Given the description of an element on the screen output the (x, y) to click on. 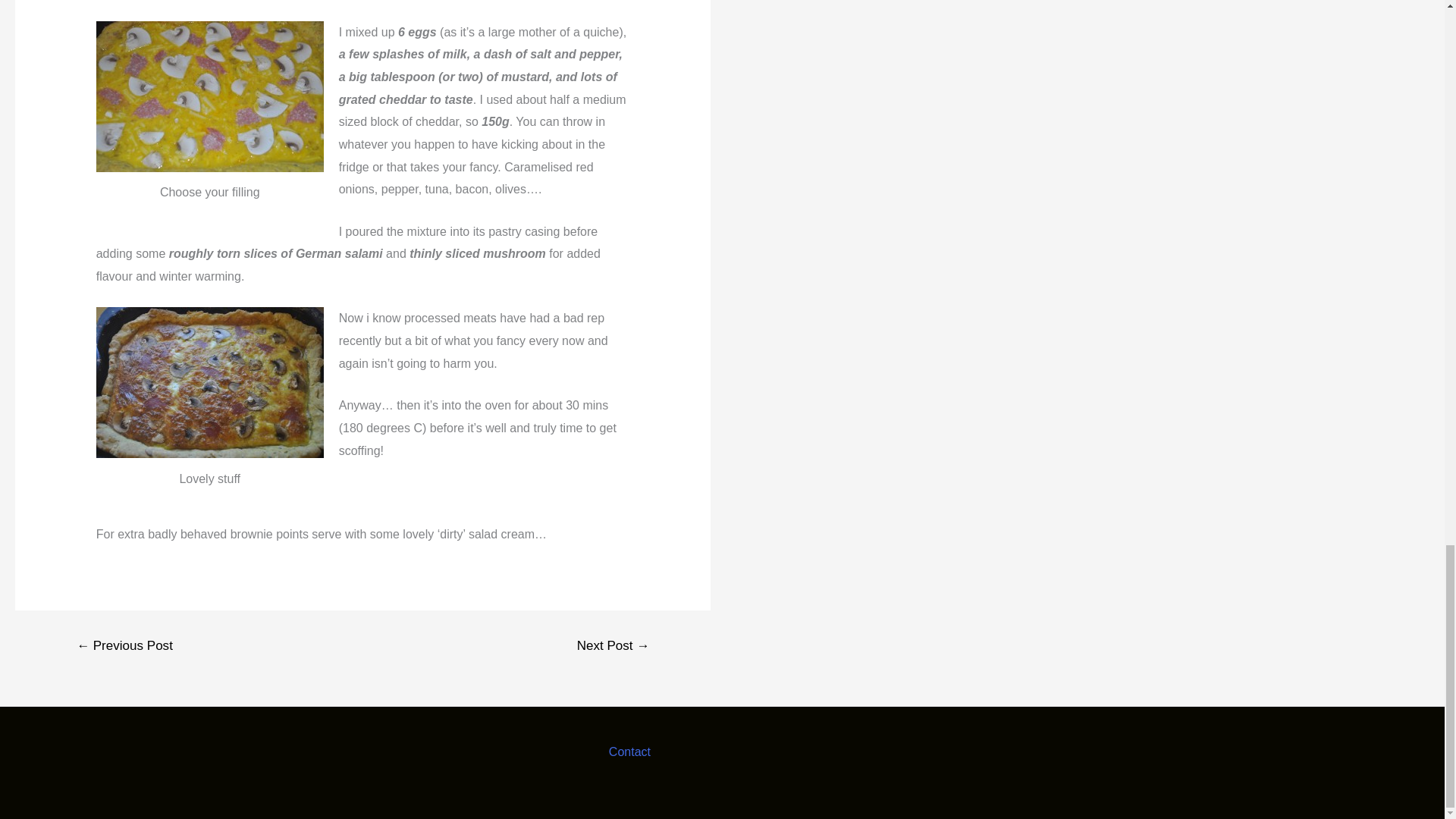
Contact (629, 751)
